Given the description of an element on the screen output the (x, y) to click on. 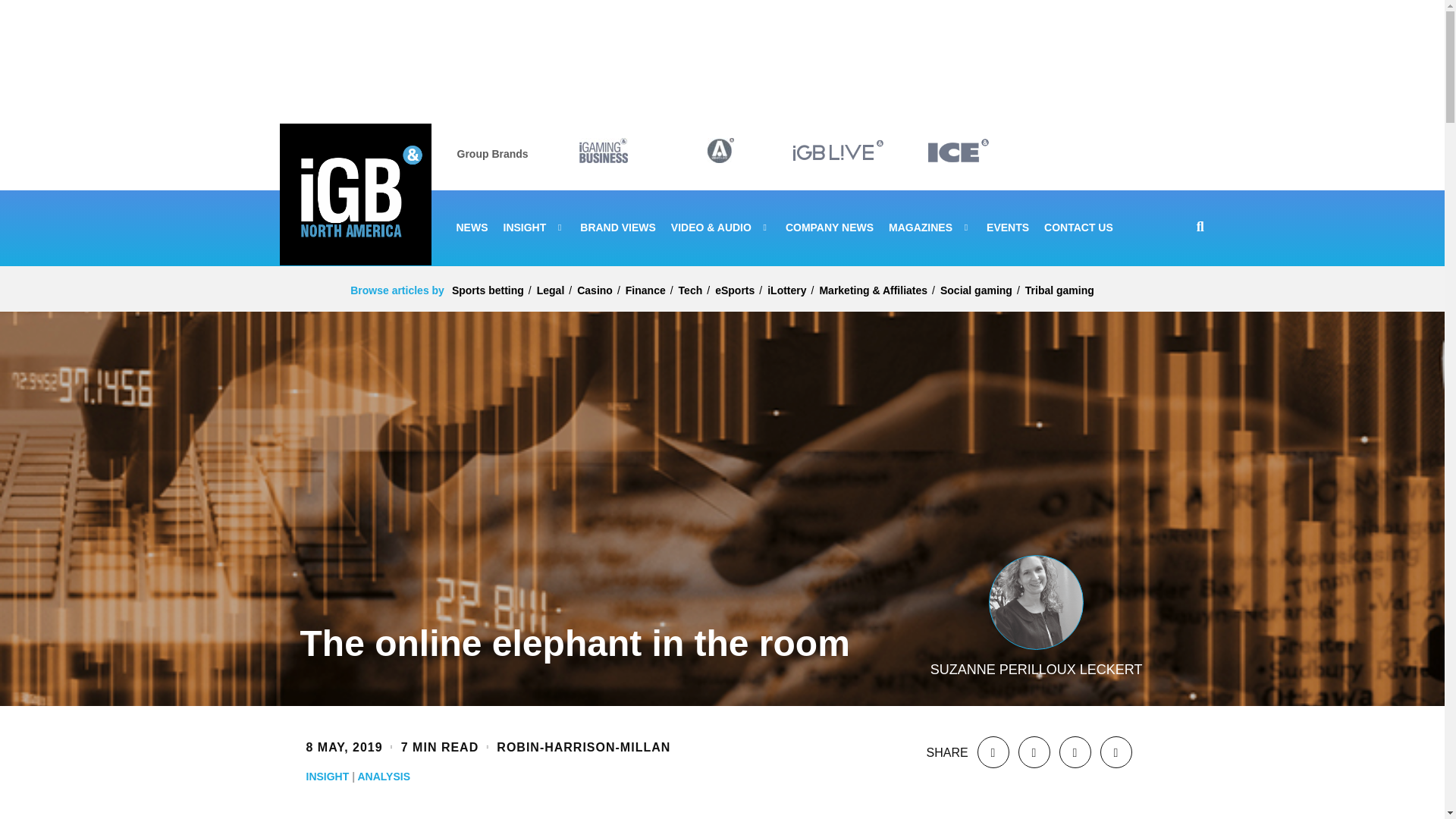
INSIGHT (534, 227)
Social gaming (975, 290)
MAGAZINES (929, 227)
EVENTS (1008, 227)
CONTACT US (1078, 227)
Sports betting (487, 290)
COMPANY NEWS (829, 227)
Casino (594, 290)
Finance (645, 290)
NEWS (472, 227)
